Given the description of an element on the screen output the (x, y) to click on. 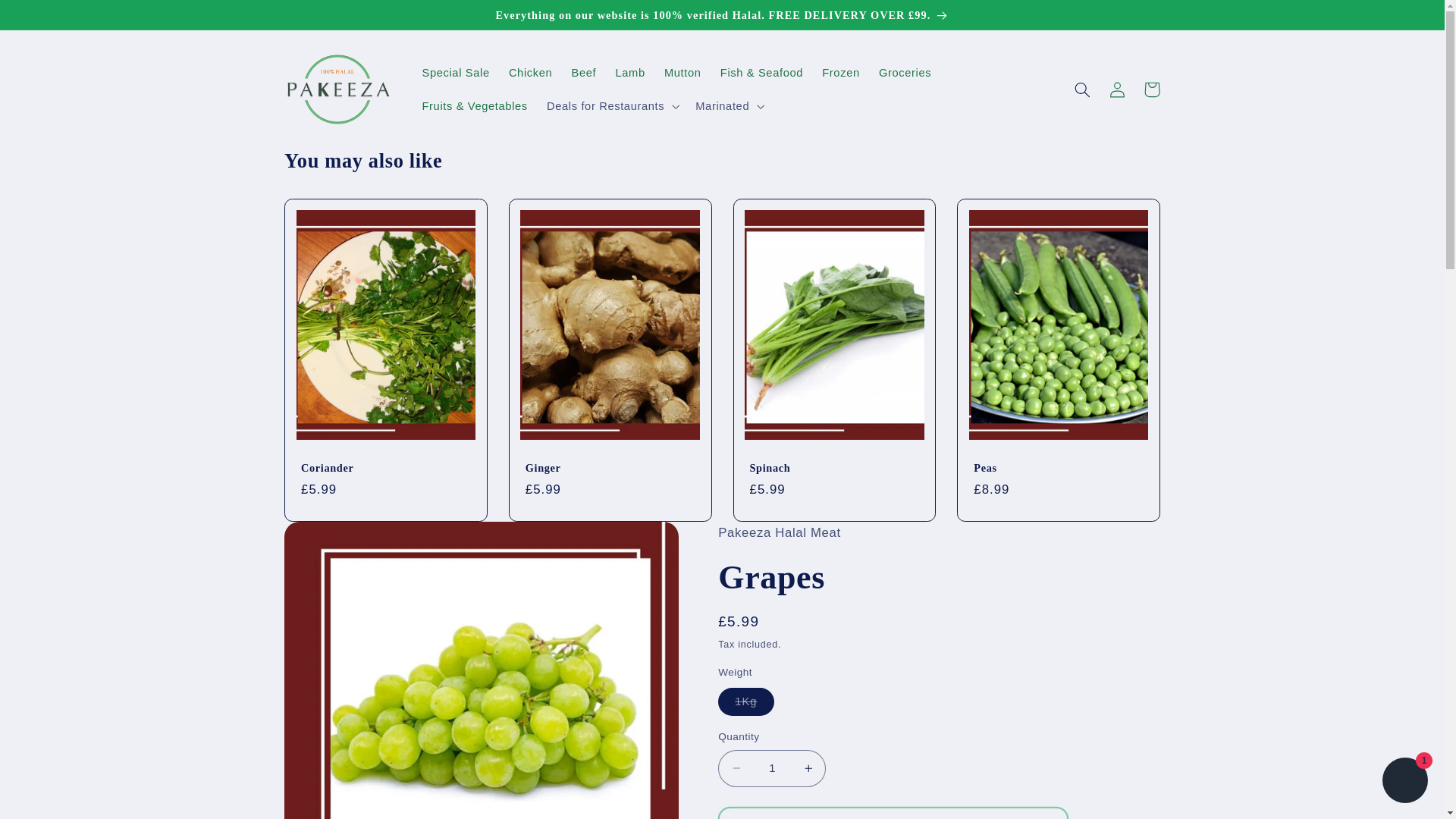
Chicken (530, 72)
Beef (583, 72)
Groceries (904, 72)
Skip to content (48, 18)
Lamb (629, 72)
1 (771, 768)
Mutton (681, 72)
Frozen (840, 72)
Shopify online store chat (1404, 781)
Special Sale (455, 72)
